Given the description of an element on the screen output the (x, y) to click on. 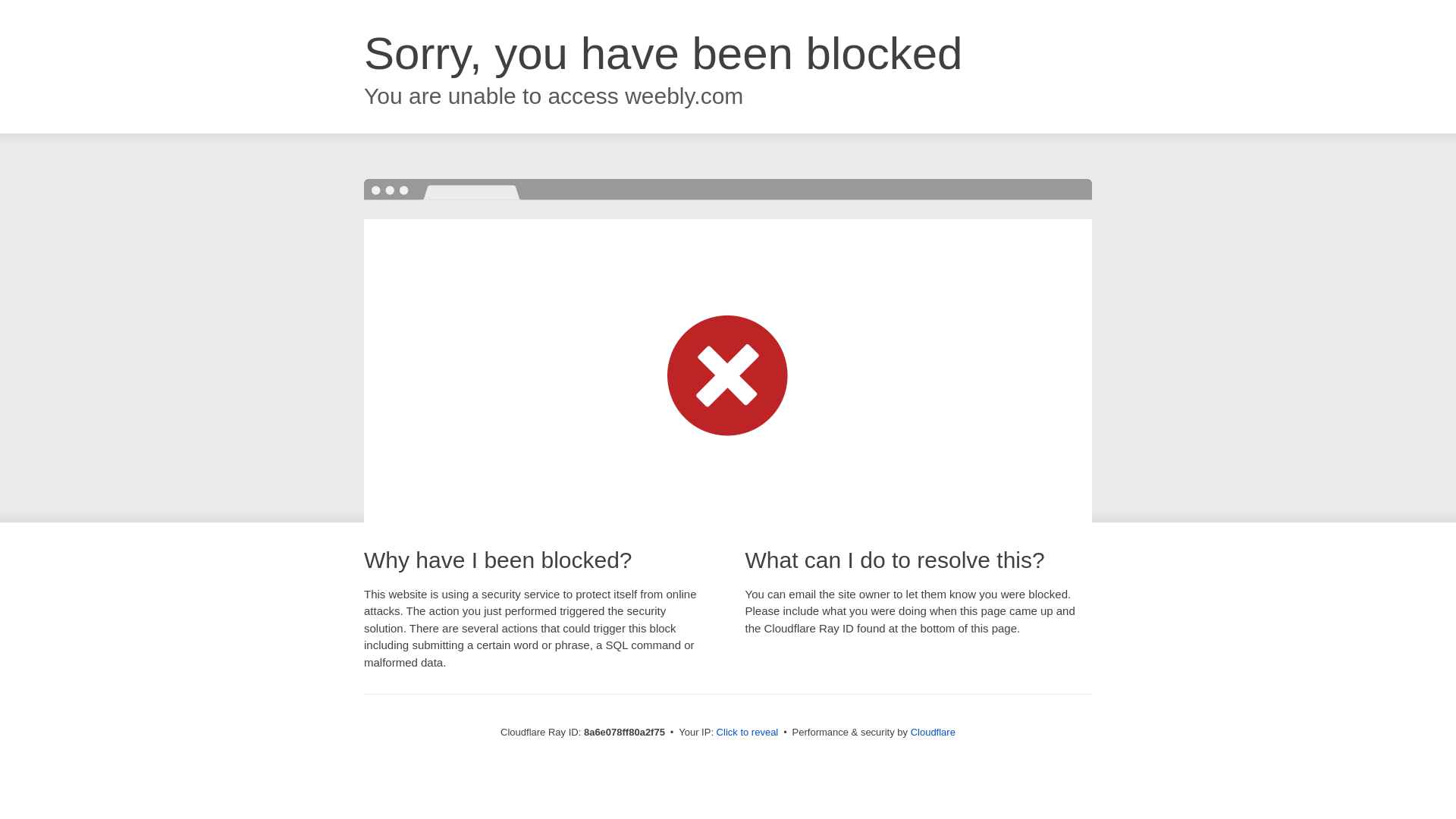
Click to reveal (747, 732)
Cloudflare (933, 731)
